Given the description of an element on the screen output the (x, y) to click on. 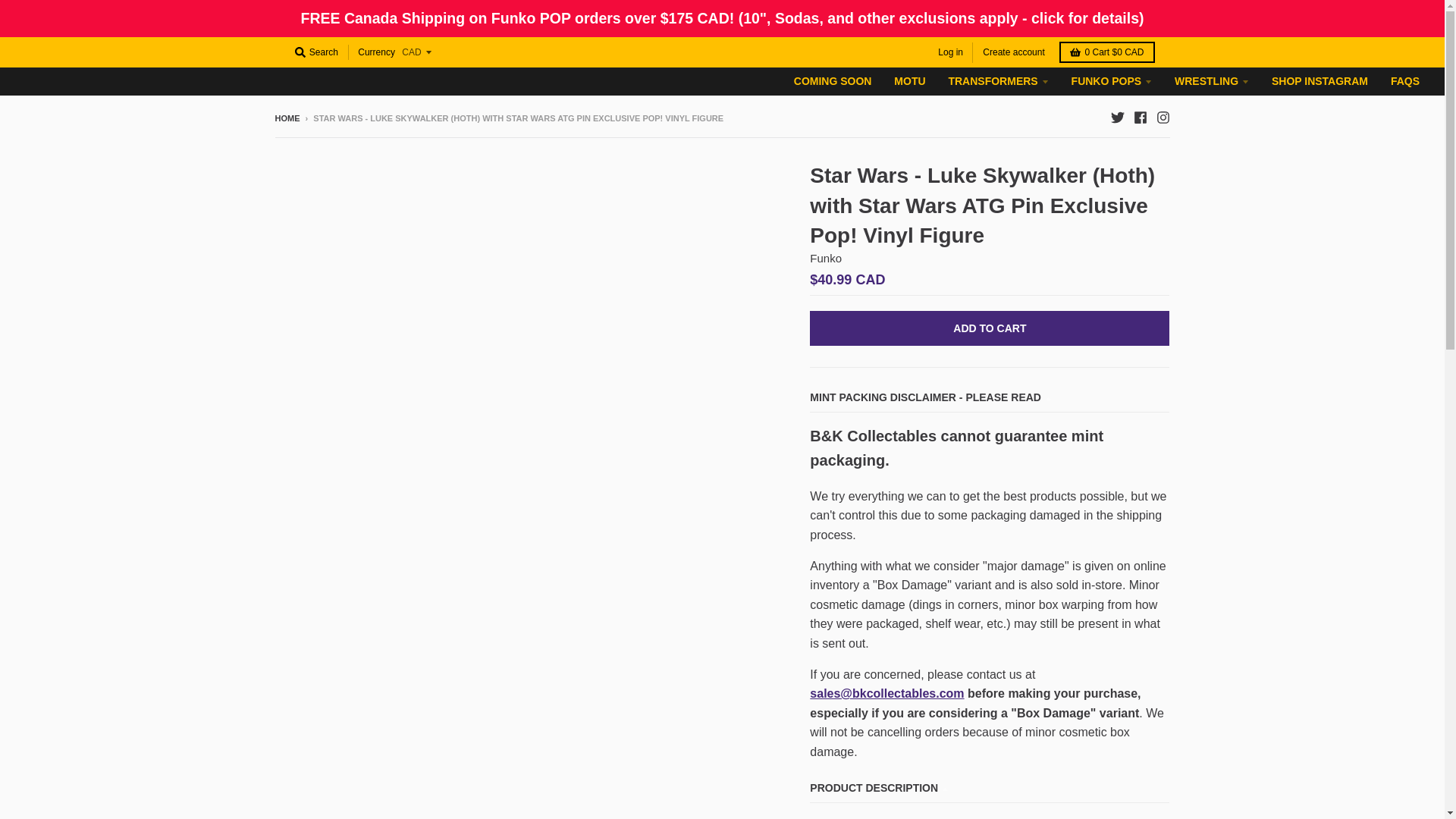
Search (315, 52)
COMING SOON (833, 81)
Log in (950, 52)
Funko (825, 257)
TRANSFORMERS (997, 81)
MOTU (908, 81)
FUNKO POPS (1111, 81)
Back to the frontpage (287, 117)
Create account (1013, 52)
WRESTLING (1211, 81)
